Given the description of an element on the screen output the (x, y) to click on. 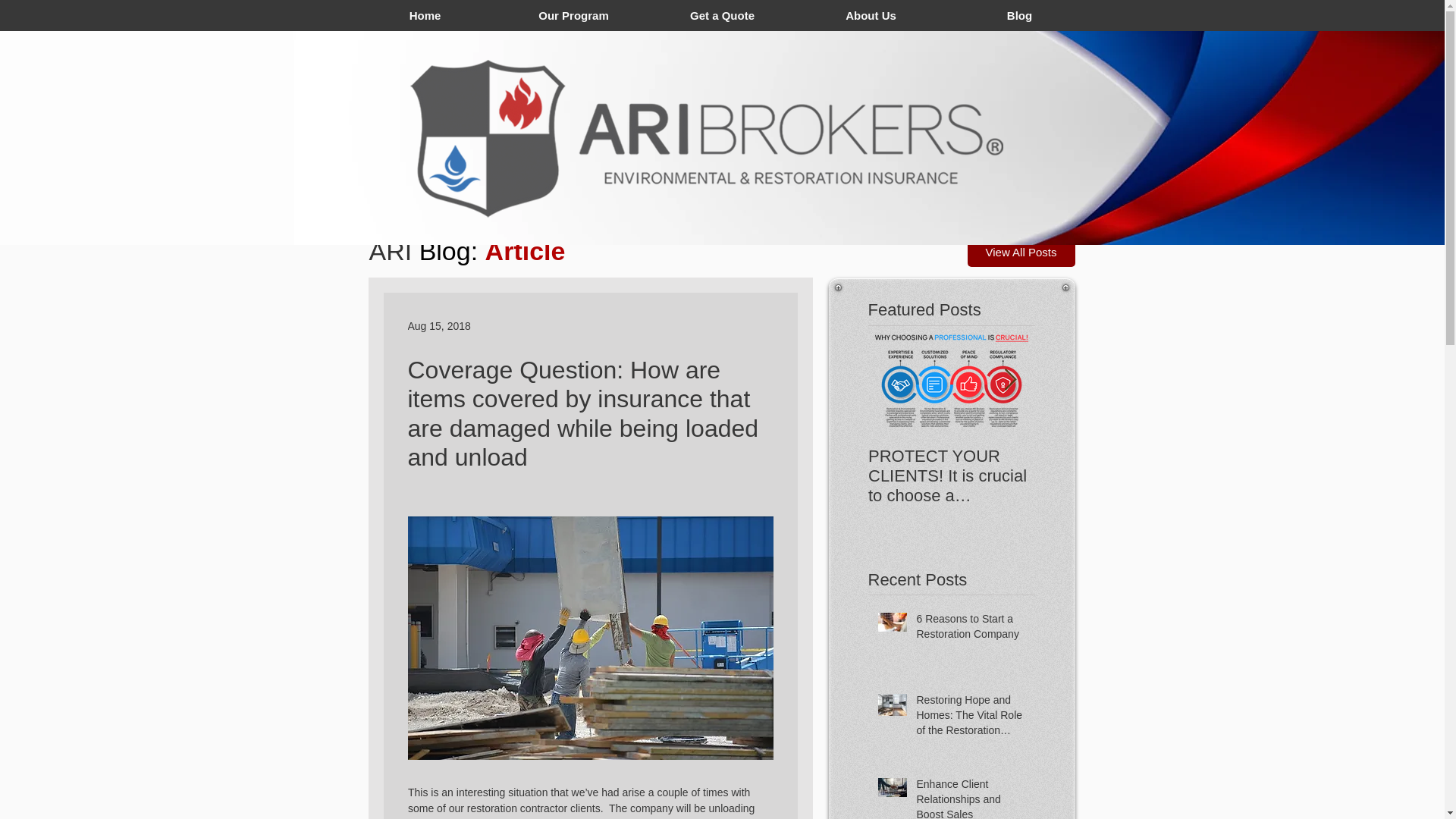
Aug 15, 2018 (438, 326)
Blog (1018, 15)
Get a Quote (721, 15)
6 Reasons to Start a Restoration Company (970, 629)
Home (424, 15)
Enhance Client Relationships and Boost Sales (970, 798)
About Us (870, 15)
View All Posts (1021, 251)
Our Program (573, 15)
